Given the description of an element on the screen output the (x, y) to click on. 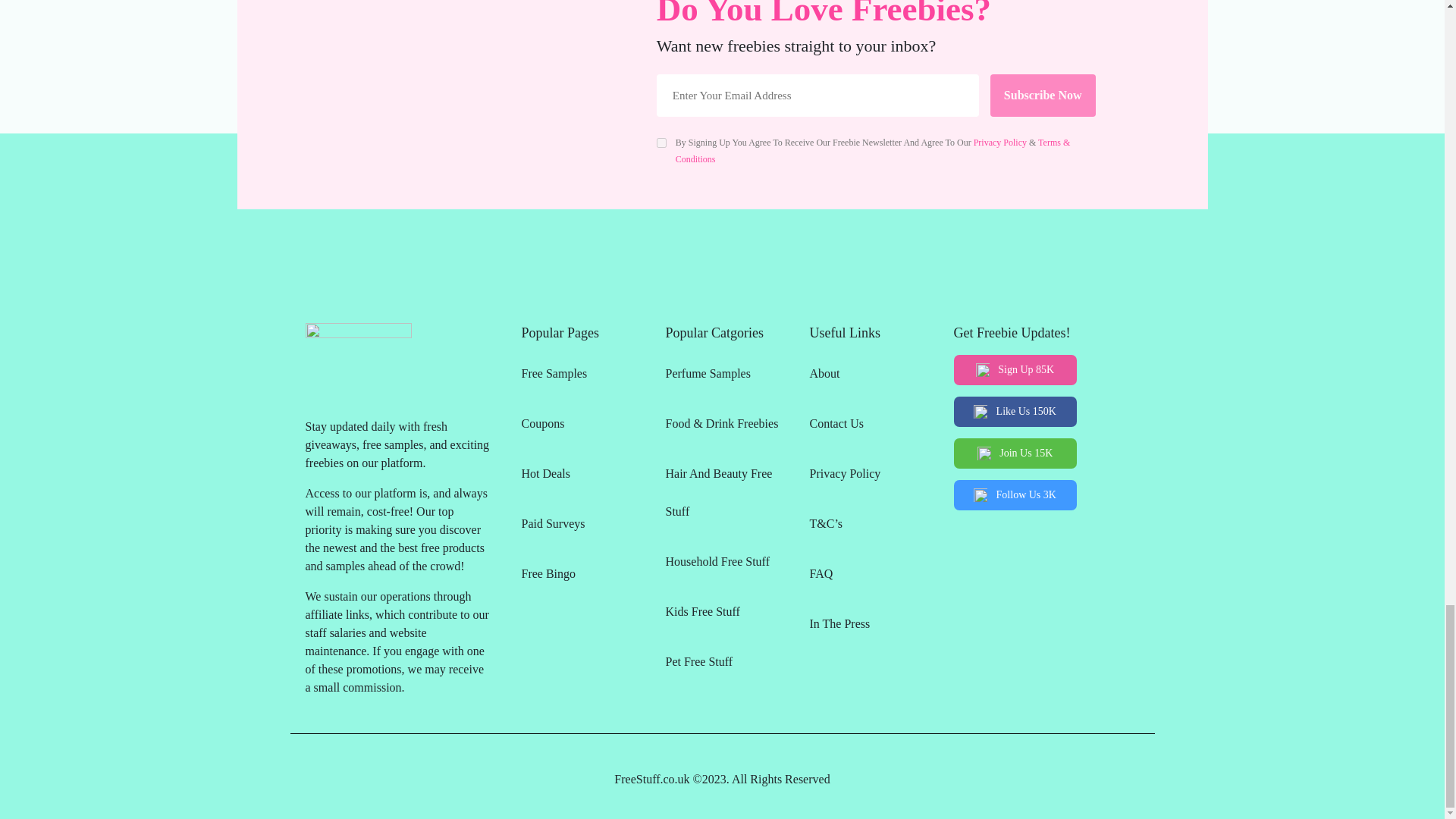
Perfume Samples (721, 373)
Coupons (577, 423)
Hot Deals (577, 474)
Subscribe Now (1043, 95)
Paid Surveys (577, 523)
Free Bingo (577, 573)
Free Samples (577, 373)
